Given the description of an element on the screen output the (x, y) to click on. 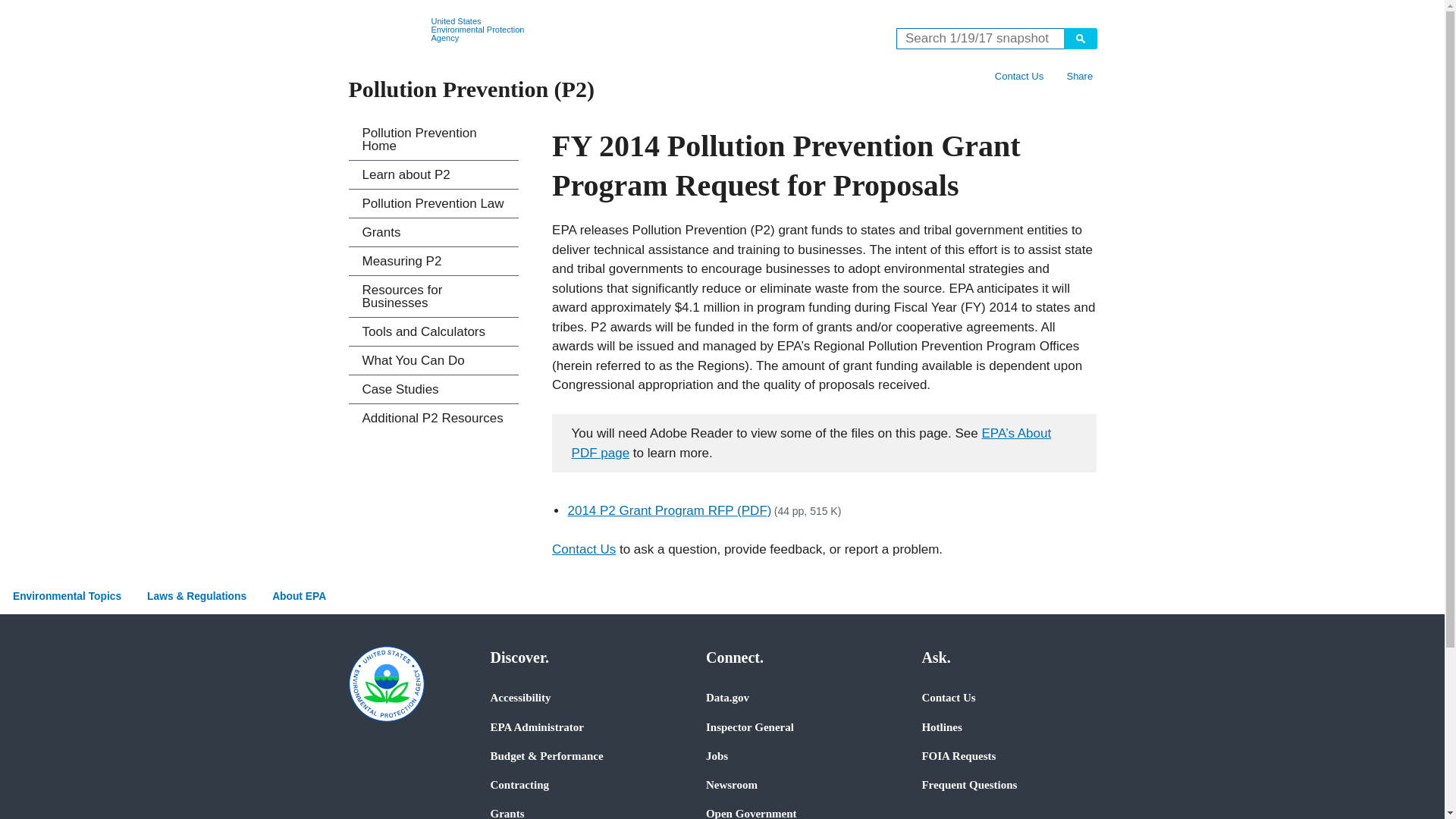
US EPA (387, 29)
Environmental Topics (66, 596)
Learn about P2 (433, 174)
Share (1079, 76)
Measuring P2 (433, 261)
Grants (433, 232)
Go to the home page (387, 29)
Additional P2 Resources (433, 418)
Contact Us (1018, 76)
Case Studies (433, 389)
